Given the description of an element on the screen output the (x, y) to click on. 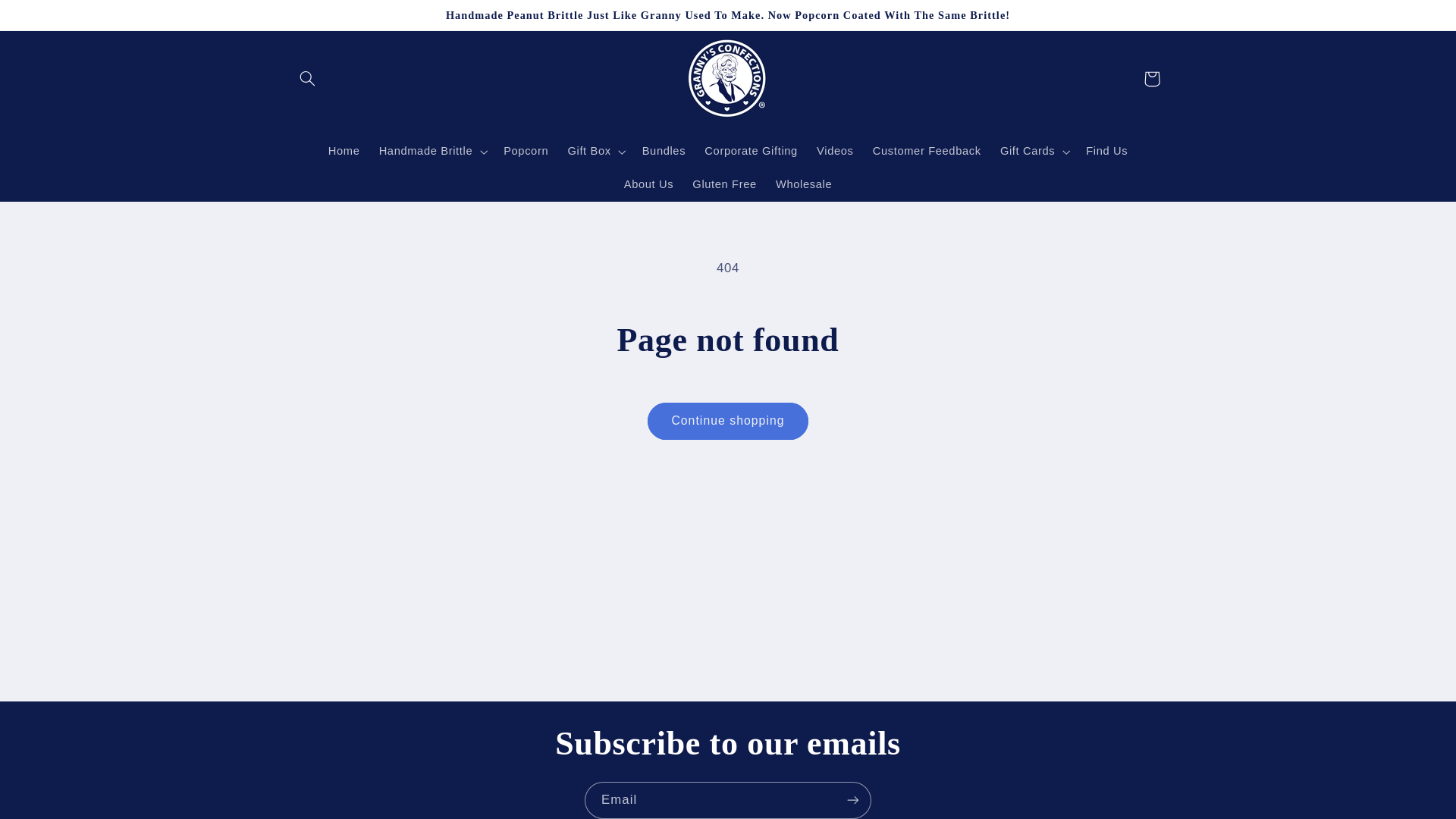
Popcorn (526, 151)
Home (343, 151)
Skip to content (48, 18)
